Given the description of an element on the screen output the (x, y) to click on. 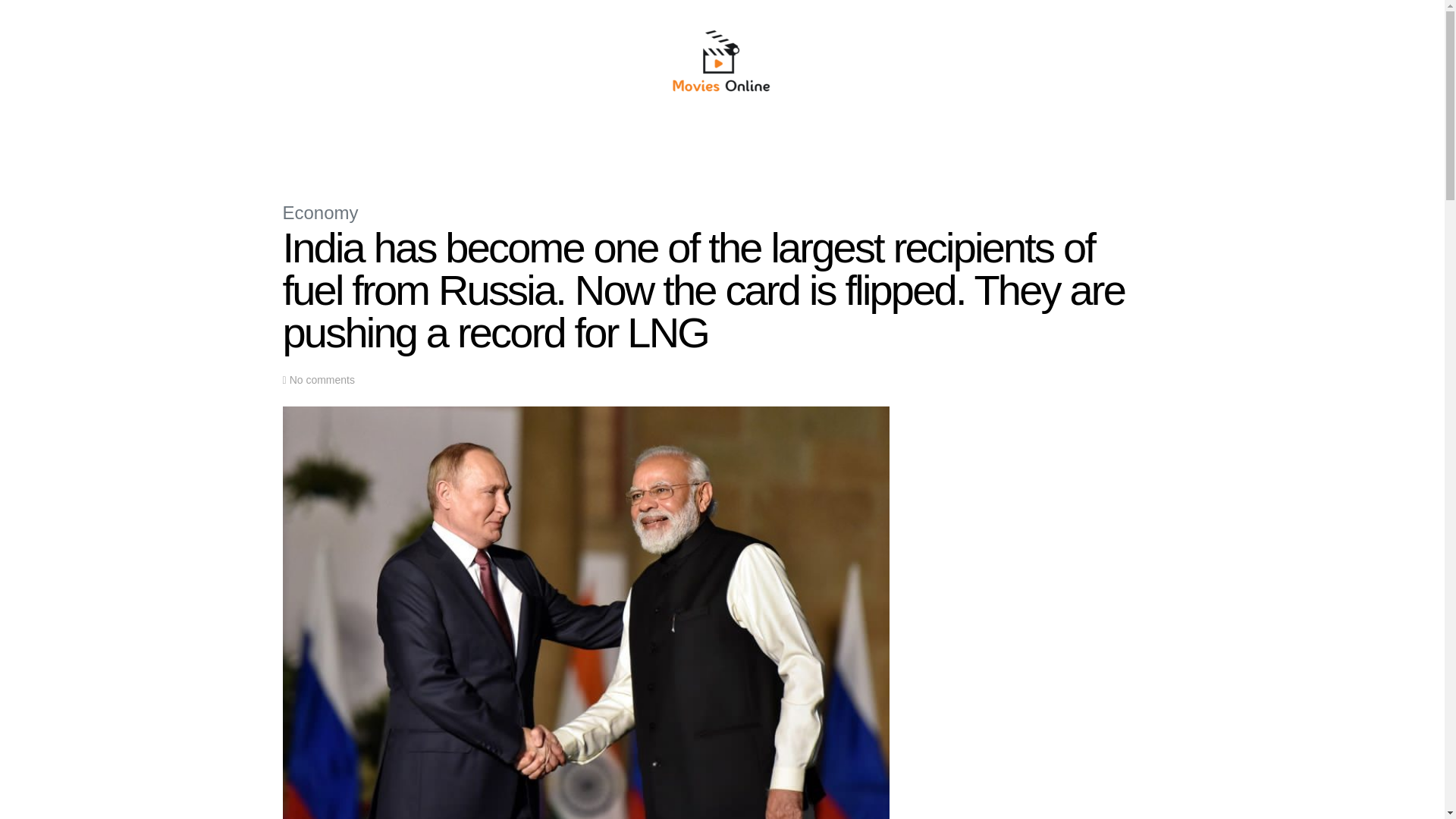
No comments (322, 380)
WORLD (553, 145)
ECONOMY (610, 145)
TOP NEWS (495, 145)
SPORT (762, 145)
SCIENCE (671, 145)
ENTERTAINMENT (834, 145)
CONTACT FORM (926, 145)
Economy (320, 212)
